Given the description of an element on the screen output the (x, y) to click on. 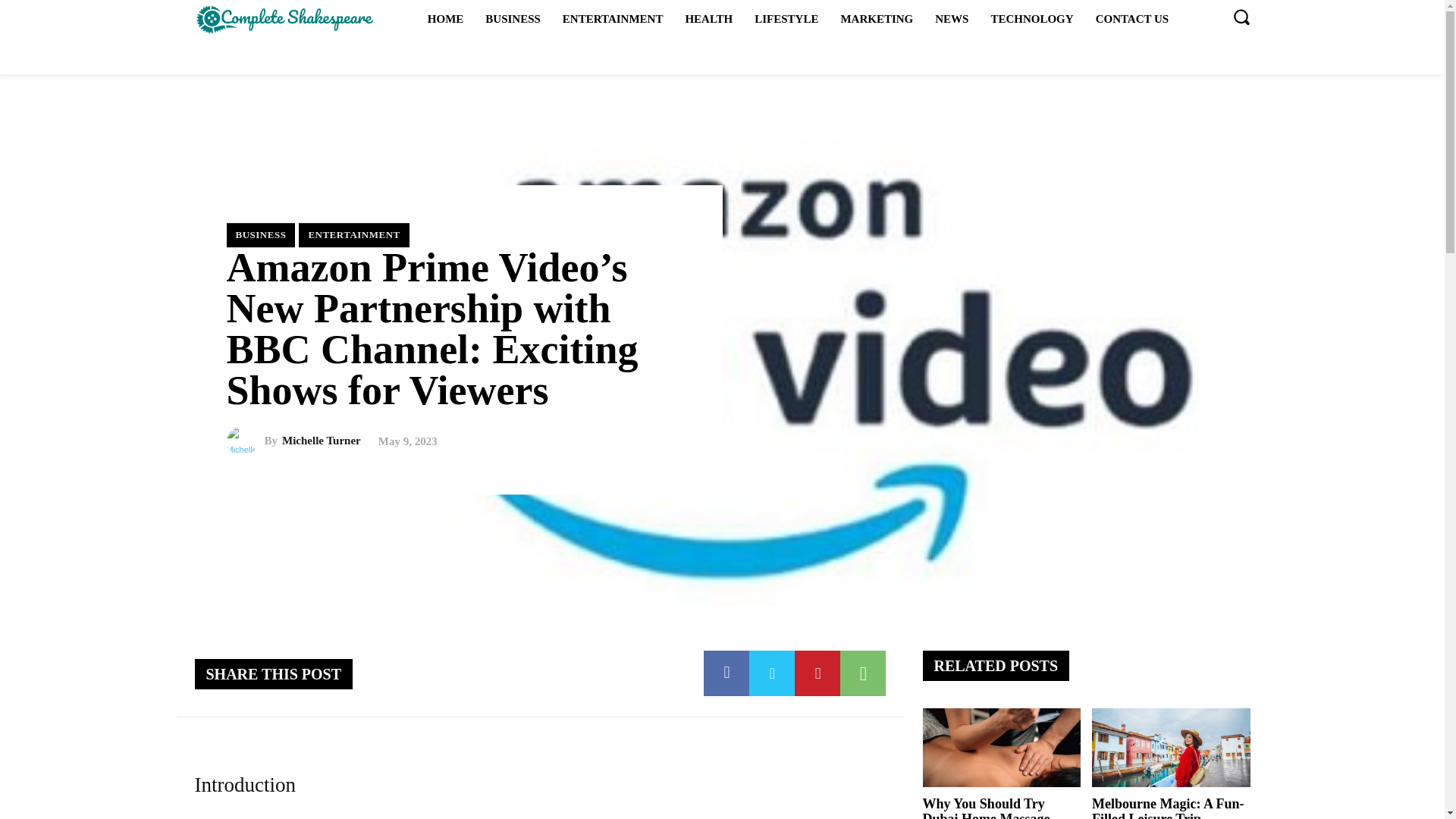
HOME (446, 18)
WhatsApp (862, 673)
Michelle Turner (321, 440)
MARKETING (876, 18)
CONTACT US (1131, 18)
NEWS (951, 18)
Why You Should Try Dubai Home Massage Services (985, 807)
BUSINESS (513, 18)
Michelle Turner (244, 440)
HEALTH (708, 18)
Why You Should Try Dubai Home Massage Services (1000, 747)
Melbourne Magic: A Fun-Filled Leisure Trip (1168, 807)
BUSINESS (260, 234)
Twitter (771, 673)
Pinterest (817, 673)
